Given the description of an element on the screen output the (x, y) to click on. 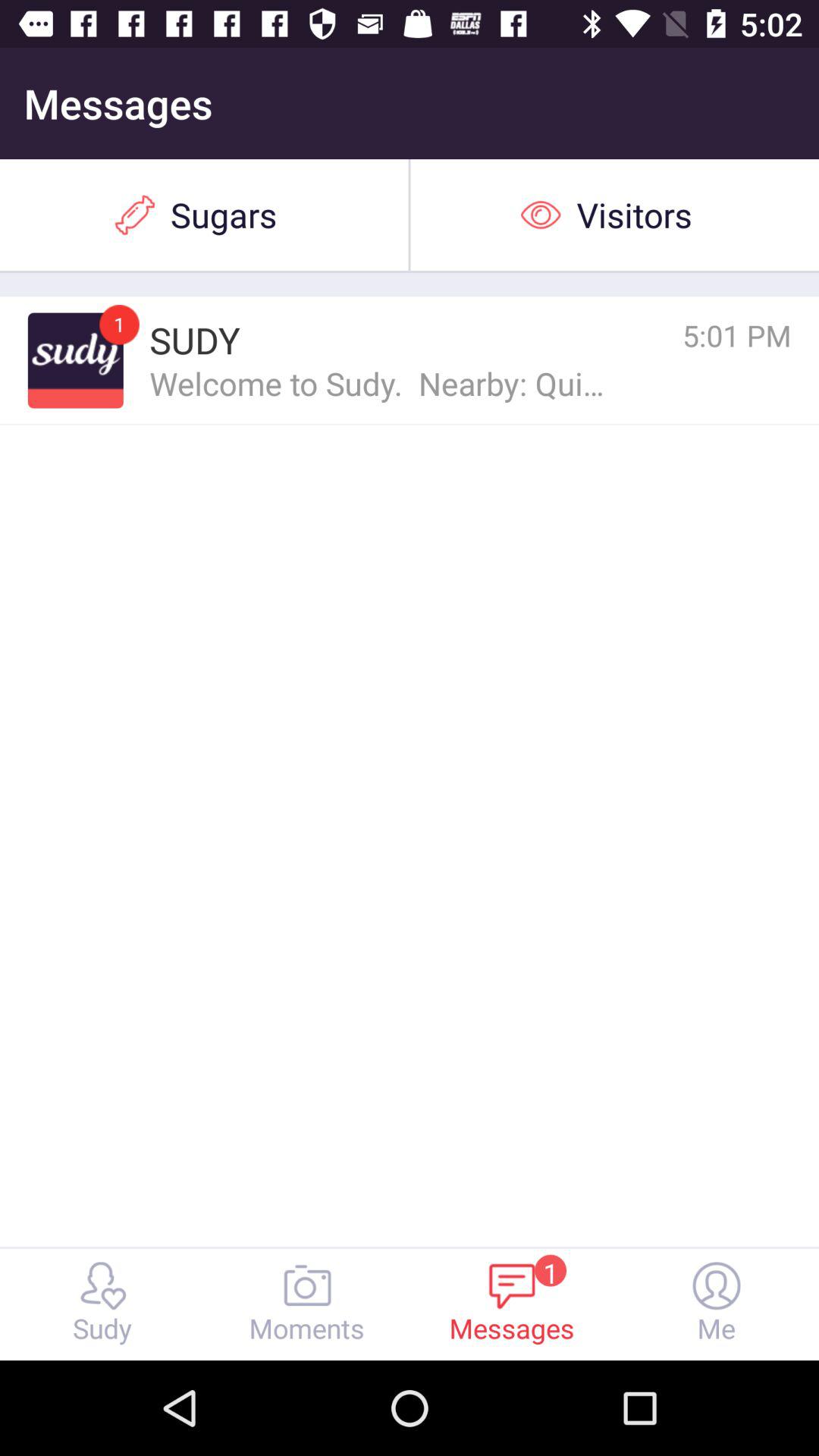
turn off the icon above the welcome to sudy (669, 335)
